Given the description of an element on the screen output the (x, y) to click on. 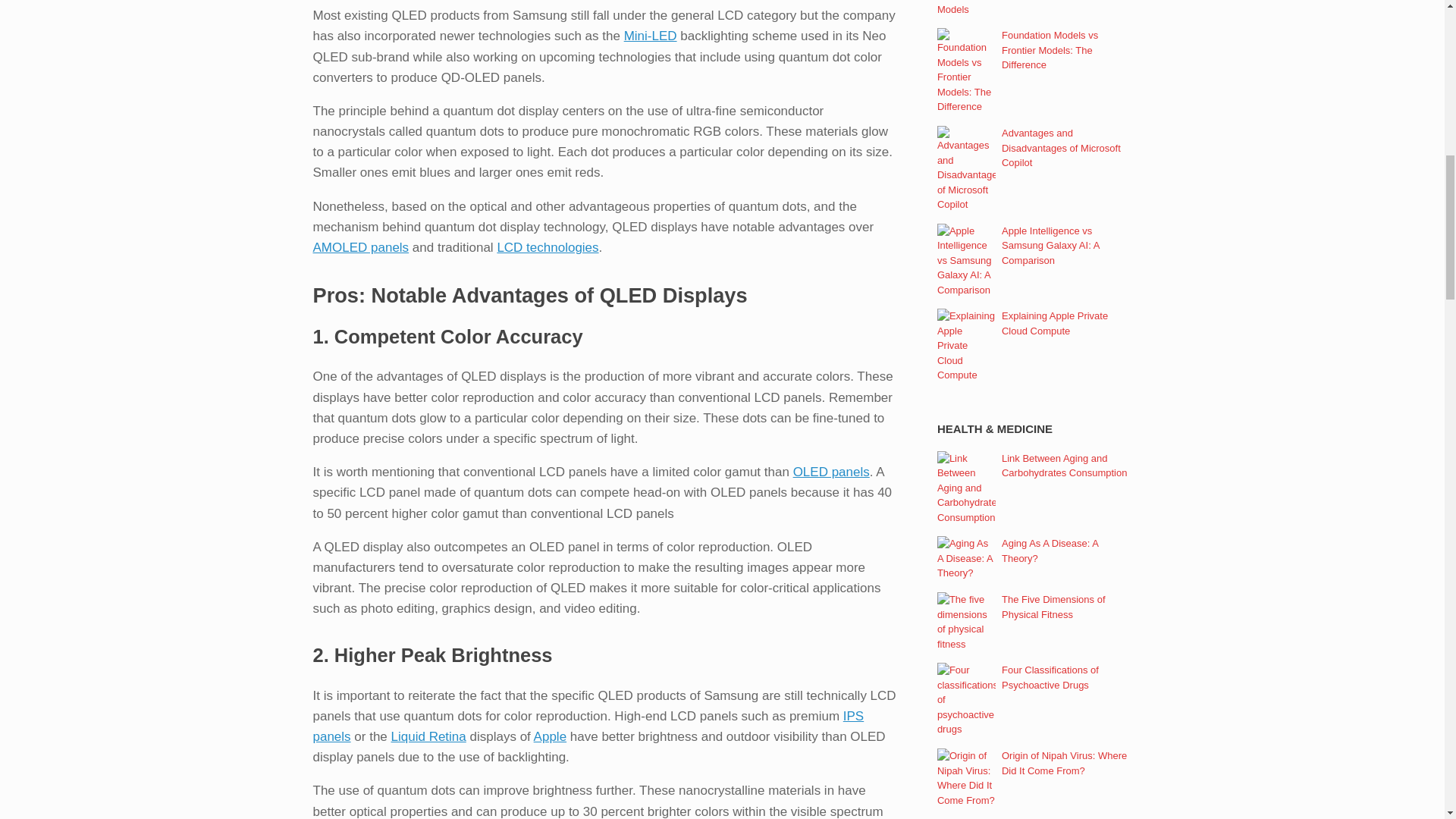
Apple (550, 736)
IPS panels (588, 726)
LCD technologies (547, 247)
Mini-LED (650, 35)
Liquid Retina (428, 736)
AMOLED panels (361, 247)
Foundation Models vs Frontier Models: The Difference (1049, 49)
OLED panels (831, 472)
